Given the description of an element on the screen output the (x, y) to click on. 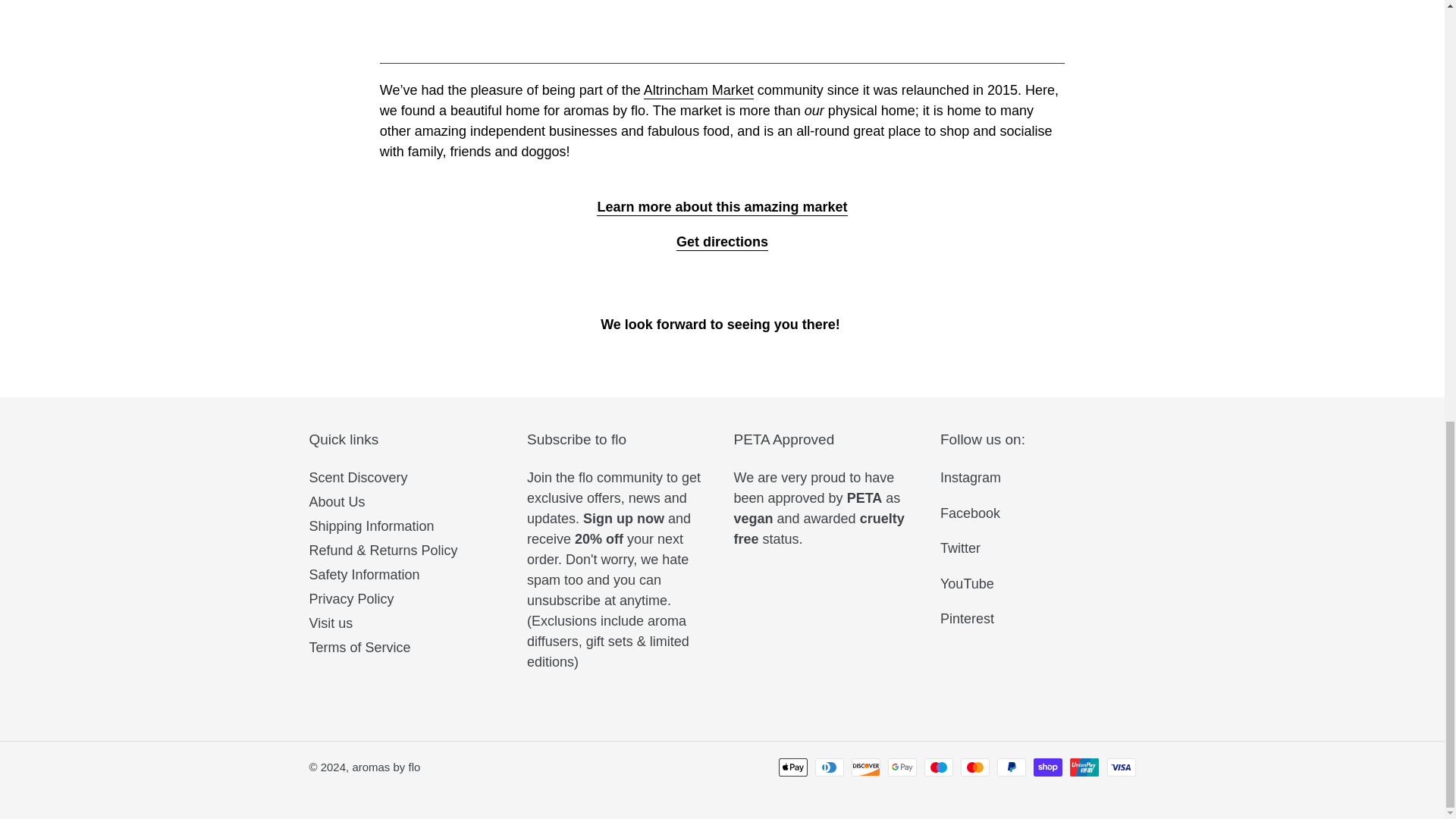
altrincham market (698, 90)
find aromas by flo at altrincham market (722, 242)
PETA (864, 498)
altrincham (722, 54)
subscribe (623, 518)
